Given the description of an element on the screen output the (x, y) to click on. 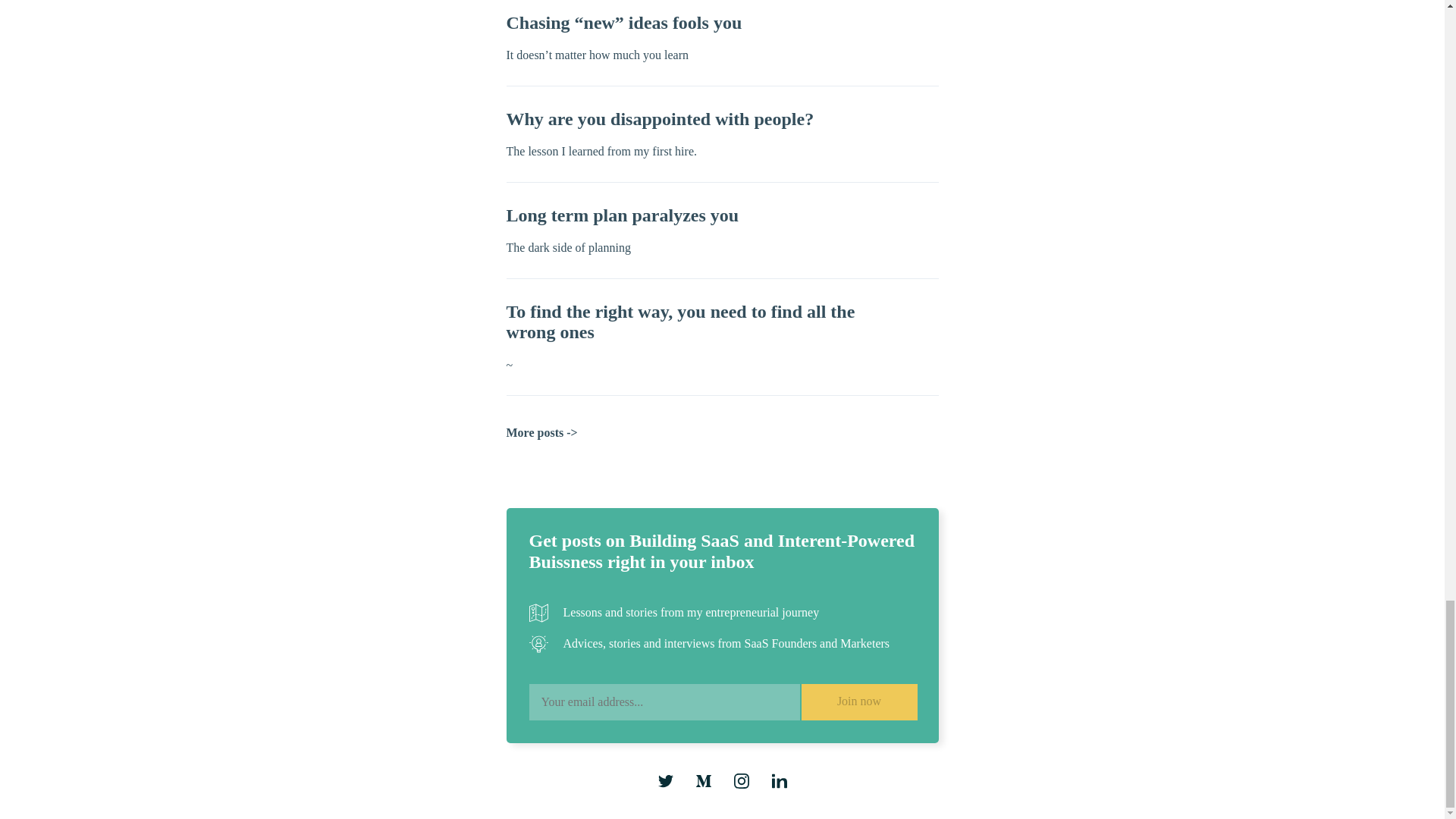
To find the right way, you need to find all the wrong ones (681, 322)
Long term plan paralyzes you (622, 215)
Why are you disappointed with people? (659, 118)
Join now (858, 701)
